Given the description of an element on the screen output the (x, y) to click on. 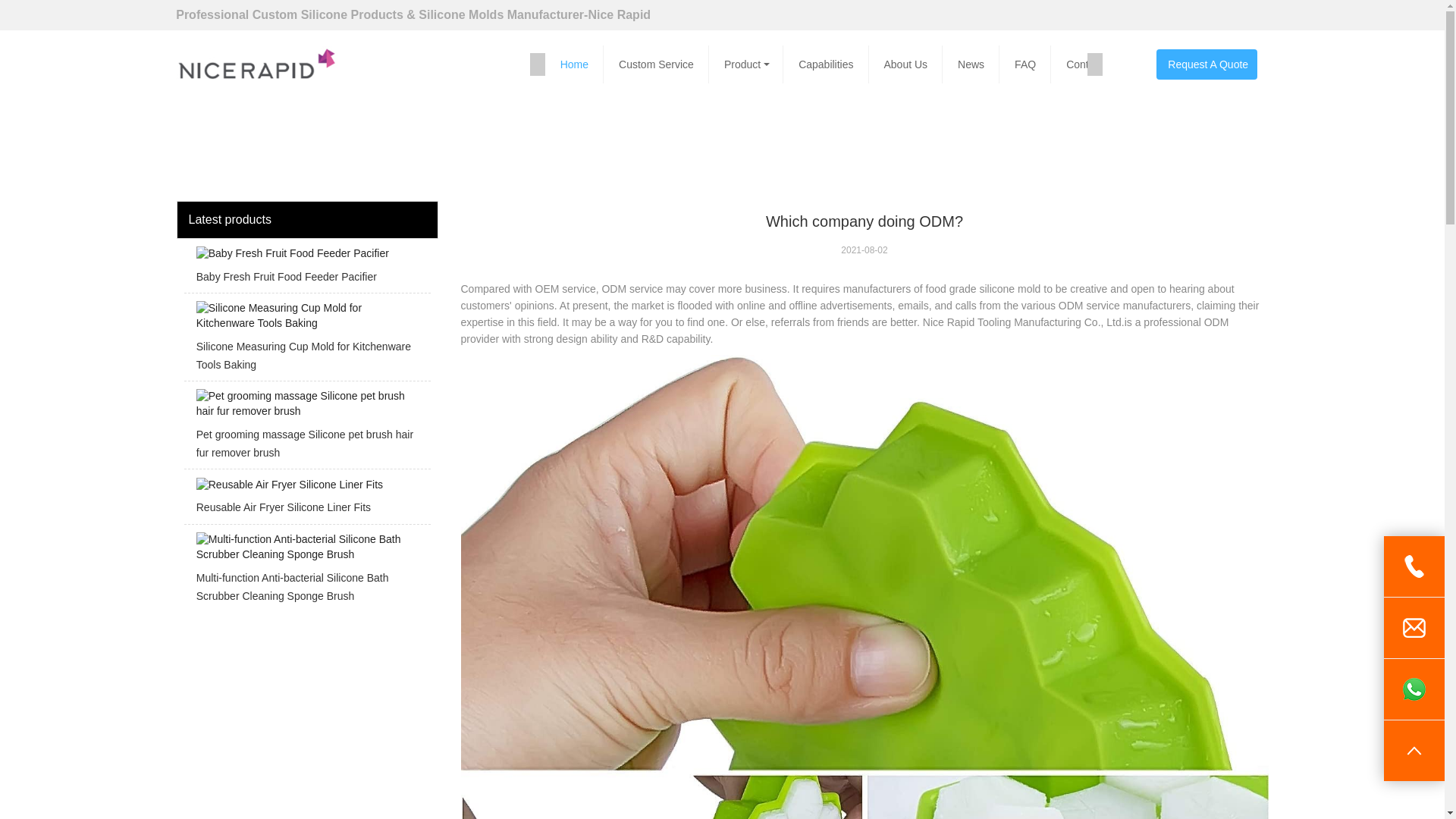
Reusable Air Fryer Silicone Liner Fits (306, 500)
Product (746, 64)
About Us (906, 64)
Custom Service (656, 64)
Request A Quote (1205, 64)
Silicone Measuring Cup Mold for Kitchenware Tools Baking (306, 340)
Contact Us (1092, 64)
Baby Fresh Fruit Food Feeder Pacifier (306, 269)
Capabilities (825, 64)
